Given the description of an element on the screen output the (x, y) to click on. 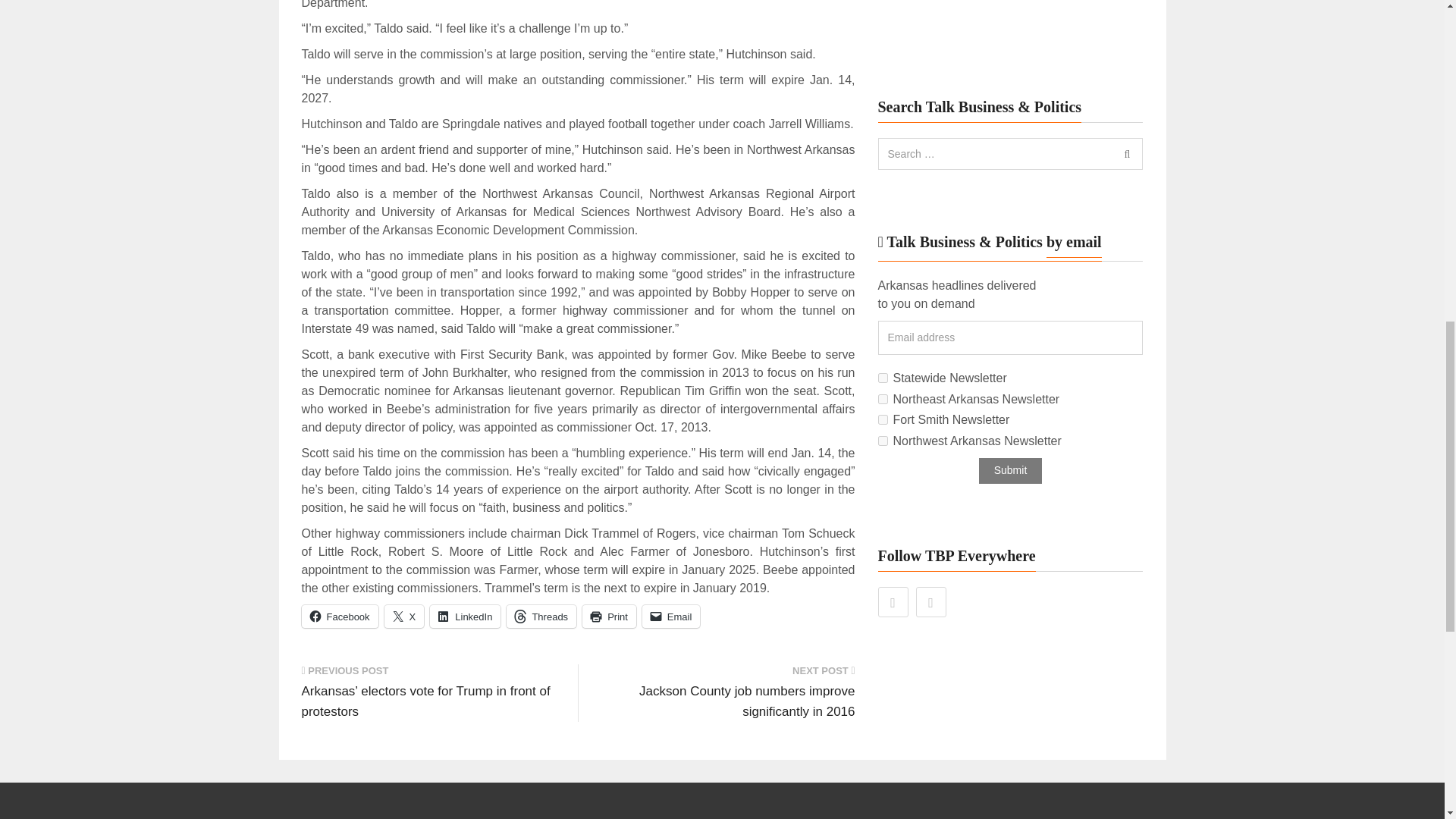
Click to share on LinkedIn (464, 616)
Click to share on Facebook (339, 616)
a8cb0d3206 (882, 378)
Click to print (609, 616)
Click to share on X (404, 616)
bfd07a2f6a (882, 419)
0dbc242577 (882, 398)
536baa6e11 (882, 440)
Click to share on Threads (541, 616)
